Given the description of an element on the screen output the (x, y) to click on. 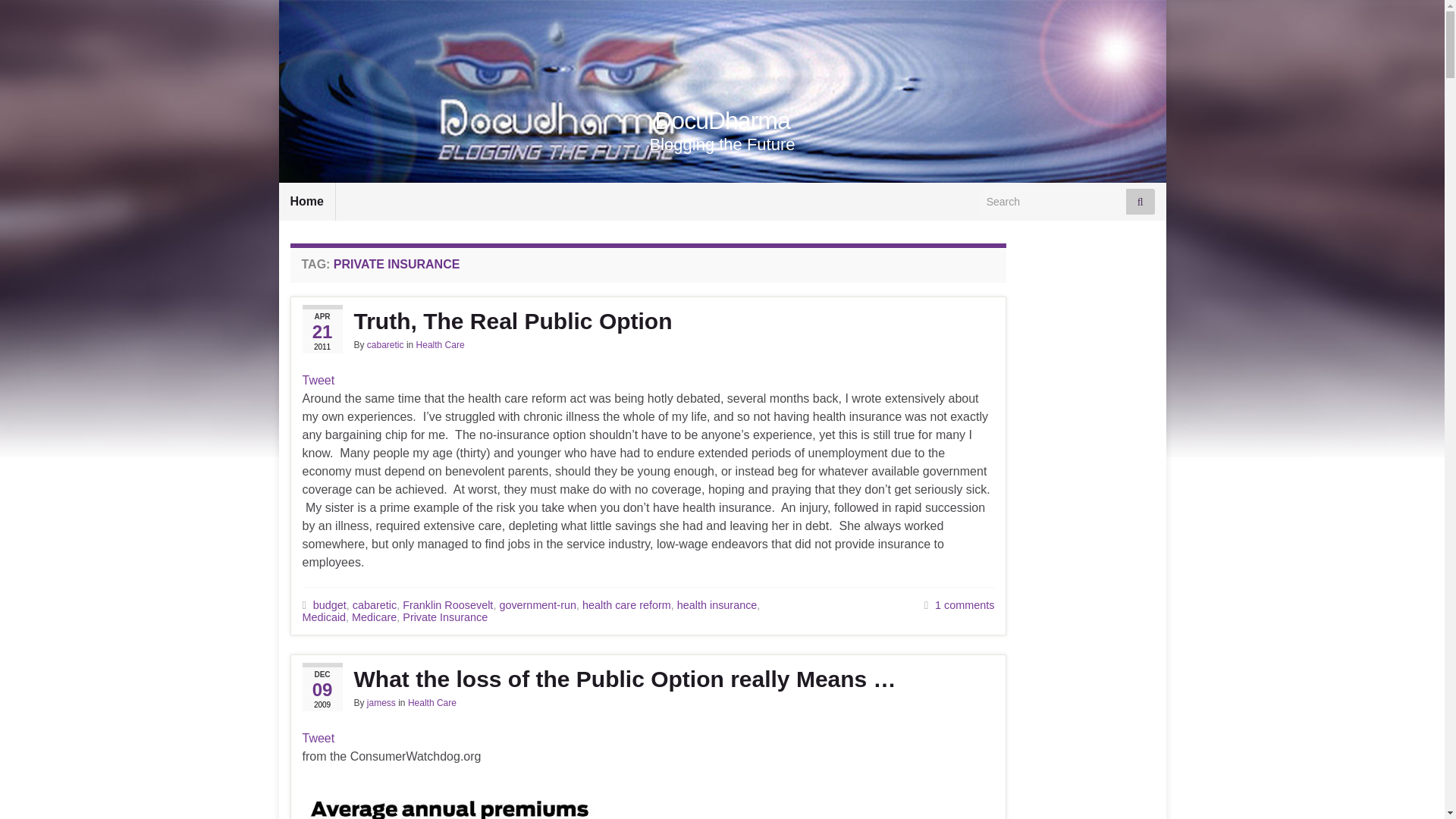
Private Insurance (445, 616)
Medicaid (323, 616)
health care reform (626, 604)
health insurance (717, 604)
cabaretic (374, 604)
Franklin Roosevelt (448, 604)
Home (306, 201)
cabaretic (385, 344)
Tweet (317, 738)
Health Care (432, 702)
Tweet (317, 379)
Health Care (440, 344)
Truth, The Real Public Option (647, 321)
DocuDharma (721, 120)
1 comments (964, 604)
